Given the description of an element on the screen output the (x, y) to click on. 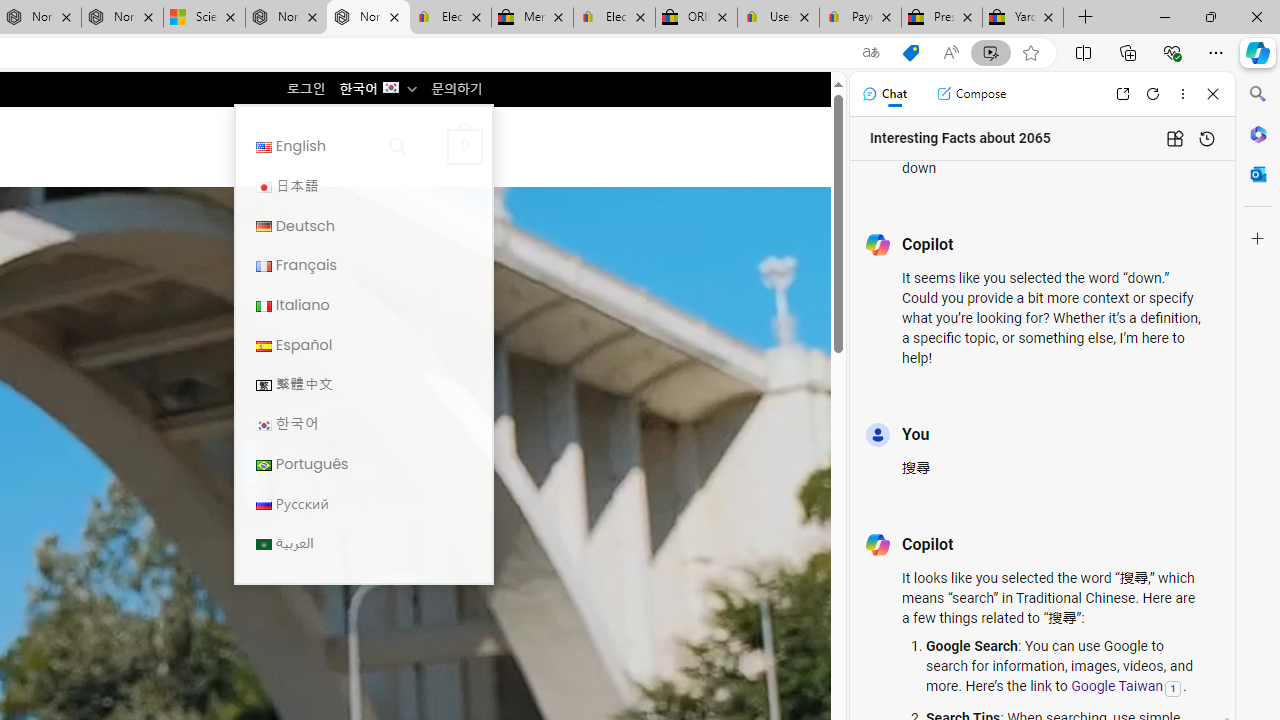
English English (363, 145)
Deutsch Deutsch (363, 225)
